Given the description of an element on the screen output the (x, y) to click on. 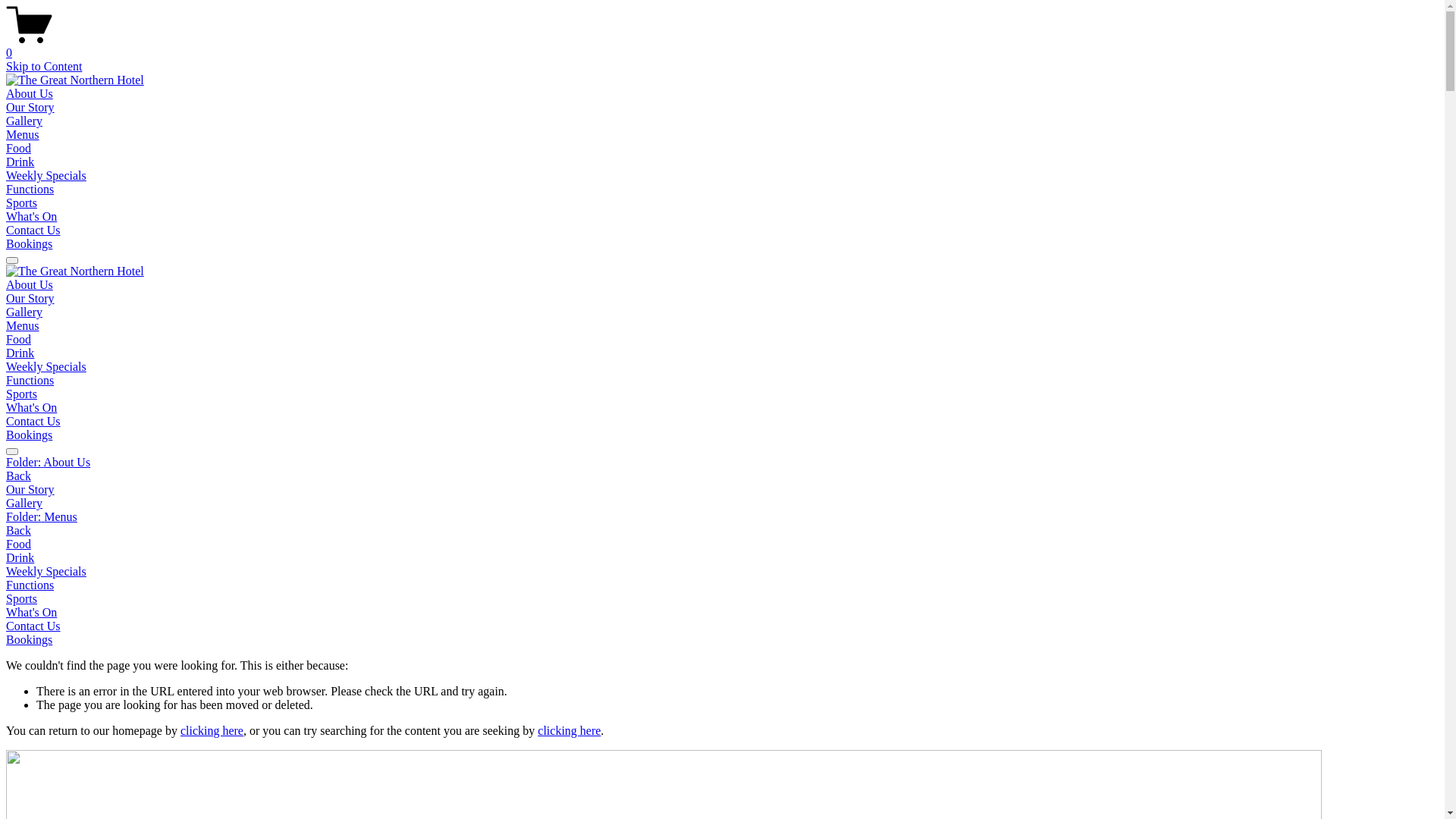
Our Story Element type: text (30, 489)
Our Story Element type: text (30, 297)
What's On Element type: text (31, 216)
What's On Element type: text (31, 611)
Our Story Element type: text (30, 106)
clicking here Element type: text (568, 730)
About Us Element type: text (29, 93)
Functions Element type: text (29, 379)
Gallery Element type: text (24, 120)
Menus Element type: text (22, 325)
Sports Element type: text (21, 202)
Drink Element type: text (20, 557)
Drink Element type: text (20, 161)
Bookings Element type: text (29, 434)
Folder: About Us Element type: text (722, 462)
0 Element type: text (722, 45)
Gallery Element type: text (24, 311)
Gallery Element type: text (24, 502)
About Us Element type: text (29, 284)
Back Element type: text (18, 475)
Bookings Element type: text (29, 639)
Weekly Specials Element type: text (46, 366)
Menus Element type: text (22, 134)
Contact Us Element type: text (33, 625)
Drink Element type: text (20, 352)
Food Element type: text (18, 147)
Sports Element type: text (21, 598)
clicking here Element type: text (211, 730)
Food Element type: text (18, 543)
Weekly Specials Element type: text (46, 175)
Food Element type: text (18, 338)
Back Element type: text (18, 530)
Functions Element type: text (29, 188)
Contact Us Element type: text (33, 420)
Skip to Content Element type: text (43, 65)
Functions Element type: text (29, 584)
Contact Us Element type: text (33, 229)
Bookings Element type: text (29, 243)
Sports Element type: text (21, 393)
Weekly Specials Element type: text (46, 570)
What's On Element type: text (31, 407)
Folder: Menus Element type: text (722, 517)
